Given the description of an element on the screen output the (x, y) to click on. 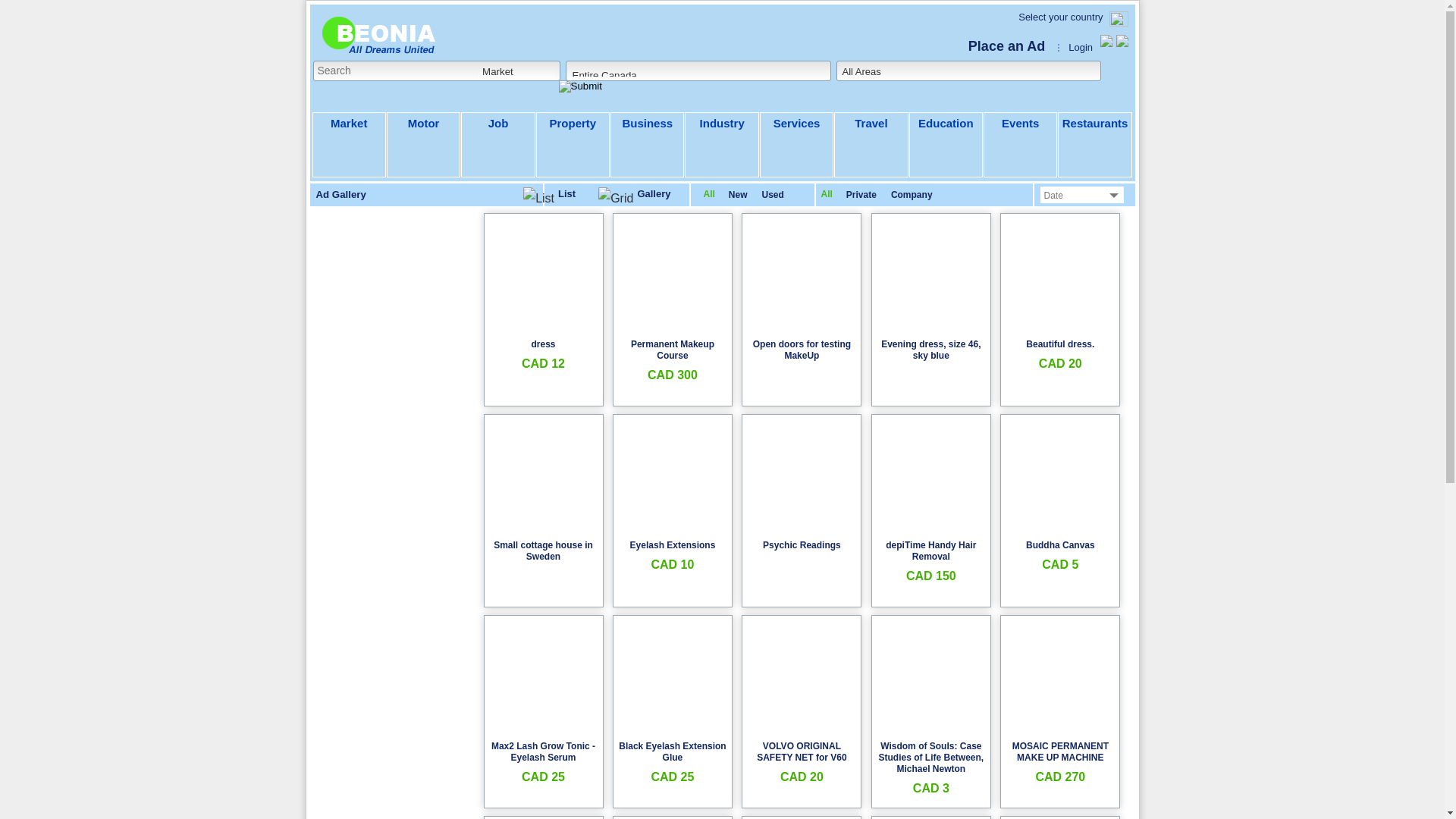
Travel Element type: text (870, 144)
Place an Ad Element type: text (1006, 45)
dress Element type: text (542, 343)
Business Element type: text (647, 144)
Login Element type: text (1080, 47)
Industry Element type: text (721, 144)
All Element type: text (709, 194)
VOLVO ORIGINAL SAFETY NET for V60 Element type: text (801, 751)
Black Eyelash Extension Glue Element type: text (671, 751)
Services Element type: text (796, 144)
Private Element type: text (861, 194)
New Element type: text (738, 194)
Education Element type: text (945, 144)
Company Element type: text (911, 194)
Psychic Readings Element type: text (801, 544)
Send Element type: text (853, 500)
All Element type: text (826, 194)
Small cottage house in Sweden Element type: text (543, 550)
Buddha Canvas Element type: text (1060, 544)
Motor Element type: text (423, 144)
Market Element type: text (348, 144)
Evening dress, size 46, sky blue Element type: text (930, 349)
Used Element type: text (772, 194)
Select your country Element type: text (1060, 16)
Beautiful dress. Element type: text (1060, 343)
Events Element type: text (1020, 144)
Open doors for testing MakeUp Element type: text (801, 349)
Job Element type: text (497, 144)
depiTime Handy Hair Removal Element type: text (930, 550)
Max2 Lash Grow Tonic - Eyelash Serum Element type: text (543, 751)
Permanent Makeup Course Element type: text (672, 349)
Restaurants Element type: text (1094, 144)
Eyelash Extensions Element type: text (672, 544)
List Element type: text (549, 196)
Property Element type: text (572, 144)
Gallery Element type: text (634, 196)
MOSAIC PERMANENT MAKE UP MACHINE Element type: text (1060, 751)
